Given the description of an element on the screen output the (x, y) to click on. 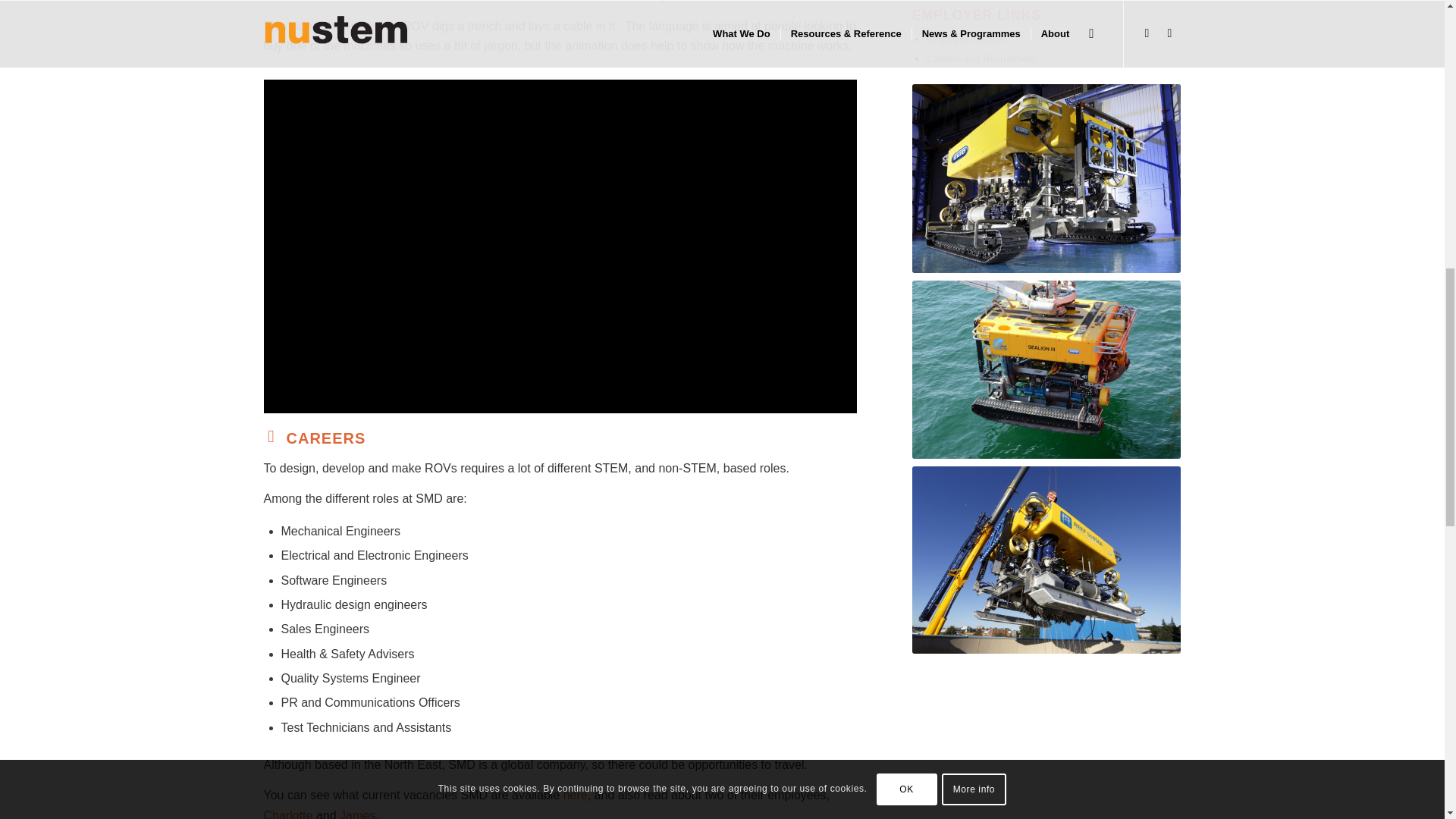
SMD ROV (1046, 559)
SMD ROV (1046, 178)
SMD ROV (1046, 369)
